Given the description of an element on the screen output the (x, y) to click on. 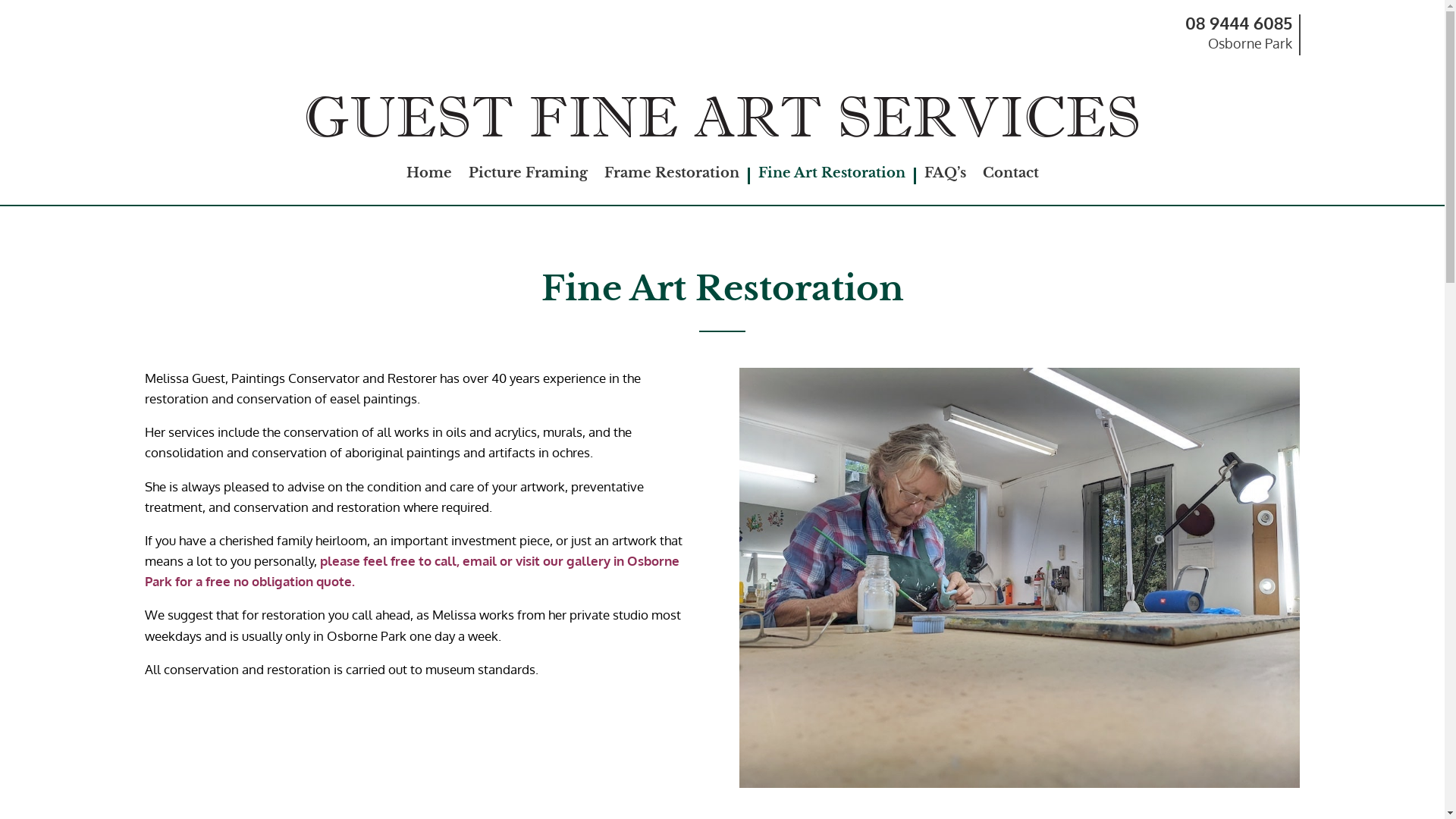
Fine Art Restoration Element type: text (831, 175)
Contact Element type: text (1010, 175)
Home Element type: text (428, 175)
08 9444 6085 Element type: text (1237, 22)
Frame Restoration Element type: text (670, 175)
Logo_green_double_centered Element type: hover (722, 116)
Picture Framing Element type: text (527, 175)
Restoration-min_lightened Element type: hover (1019, 577)
